Given the description of an element on the screen output the (x, y) to click on. 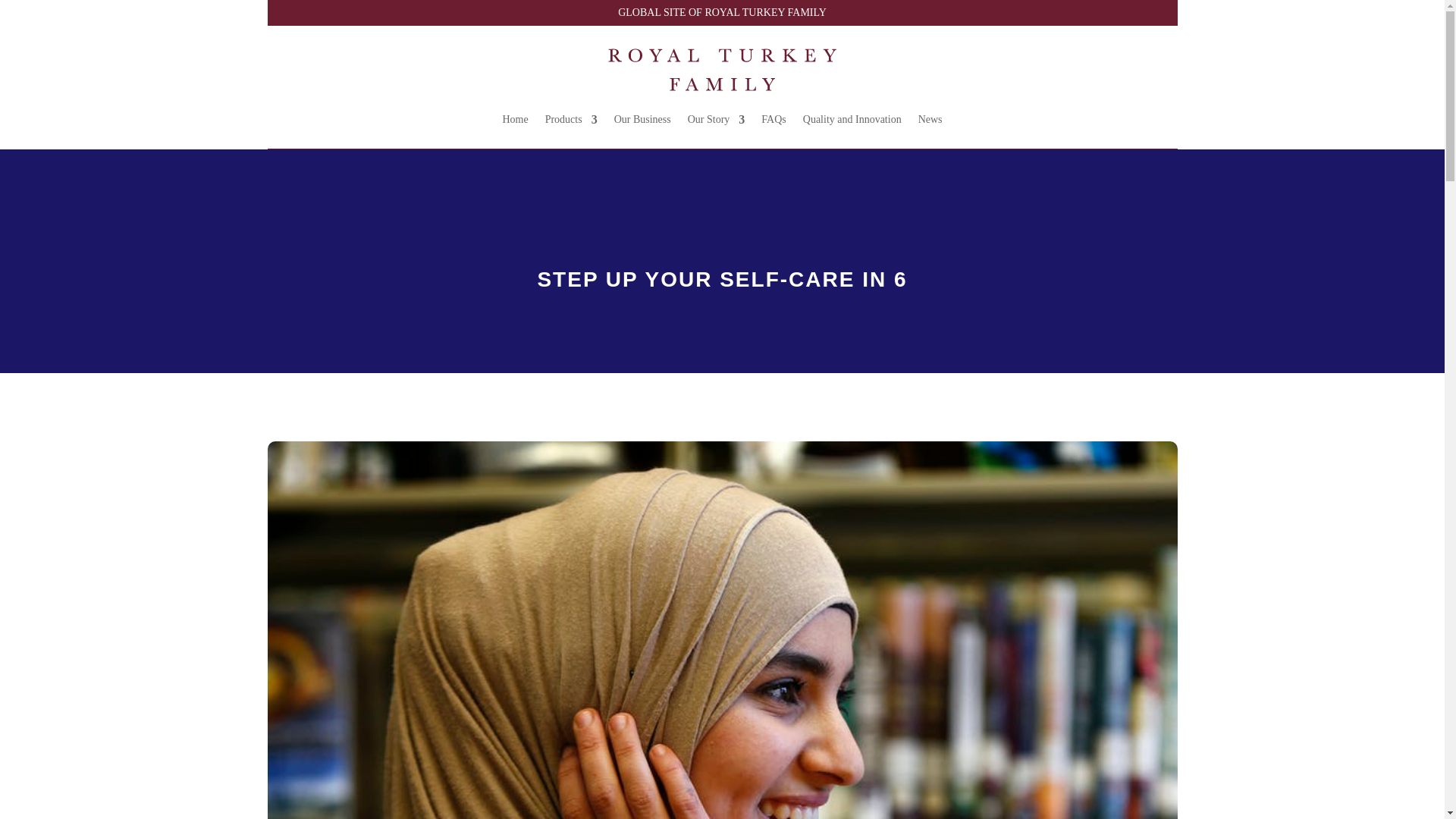
Home (514, 119)
Our Story (716, 119)
Products (570, 119)
Our Business (642, 119)
Quality and Innovation (852, 119)
FAQs (773, 119)
News (930, 119)
